Given the description of an element on the screen output the (x, y) to click on. 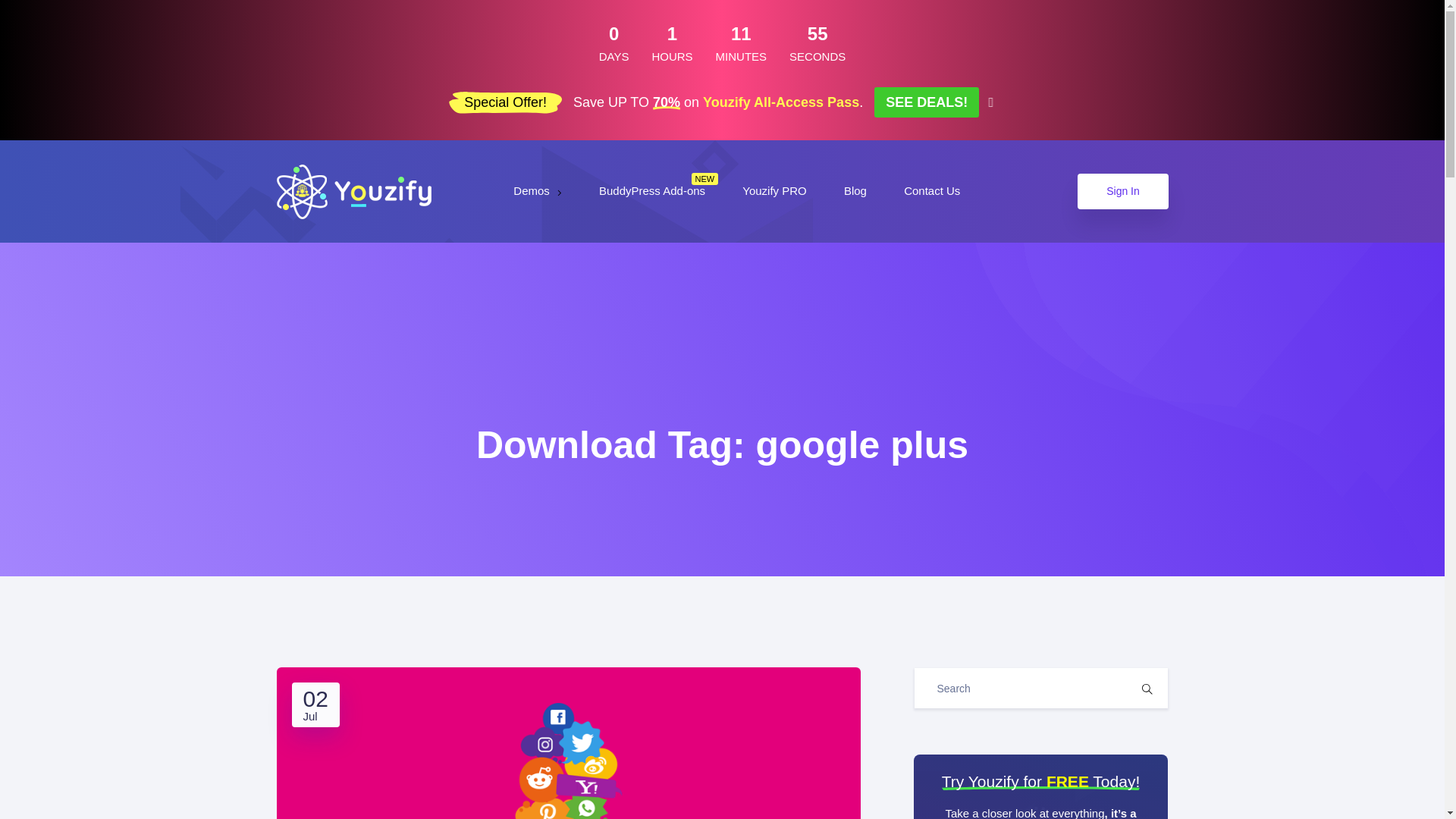
BuddyPress Add-ons (652, 190)
Demos (538, 191)
Youzify PRO (775, 190)
Blog (856, 190)
Sign In (1122, 191)
Youzify PRO  (775, 190)
Demos (538, 191)
BuddyPress Add-ons  (652, 190)
SEE DEALS! (926, 101)
Contact Us  (933, 190)
